Given the description of an element on the screen output the (x, y) to click on. 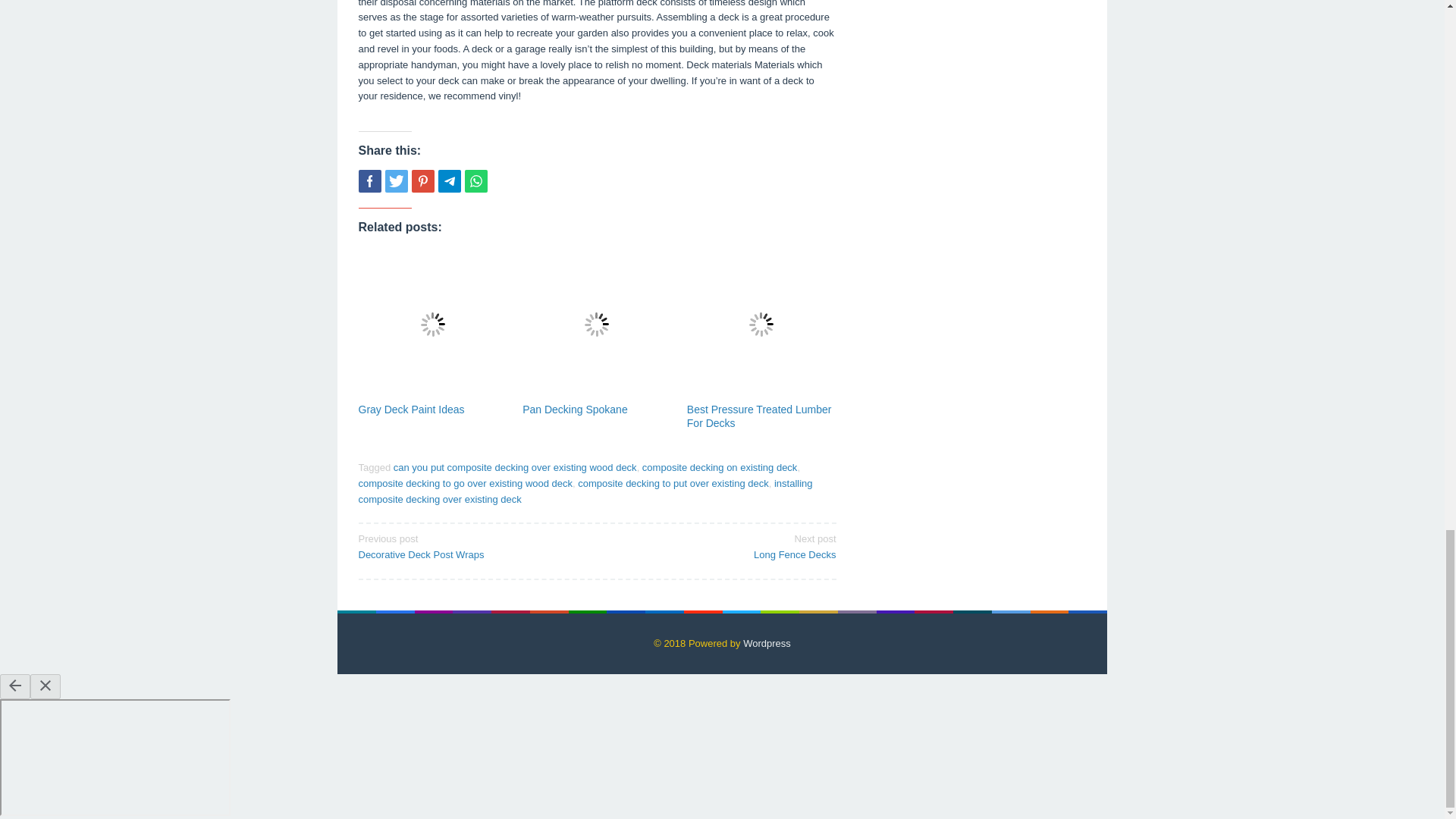
composite decking to go over existing wood deck (465, 482)
installing composite decking over existing deck (585, 491)
Pin this (421, 180)
Permalink to: Gray Deck Paint Ideas (432, 323)
Gray Deck Paint Ideas (411, 409)
can you put composite decking over existing wood deck (515, 467)
Telegram Share (449, 180)
composite decking on existing deck (472, 545)
Whatsapp (721, 545)
Best Pressure Treated Lumber For Decks (719, 467)
Pan Decking Spokane (475, 180)
Tweet this (759, 416)
Share this (574, 409)
